Given the description of an element on the screen output the (x, y) to click on. 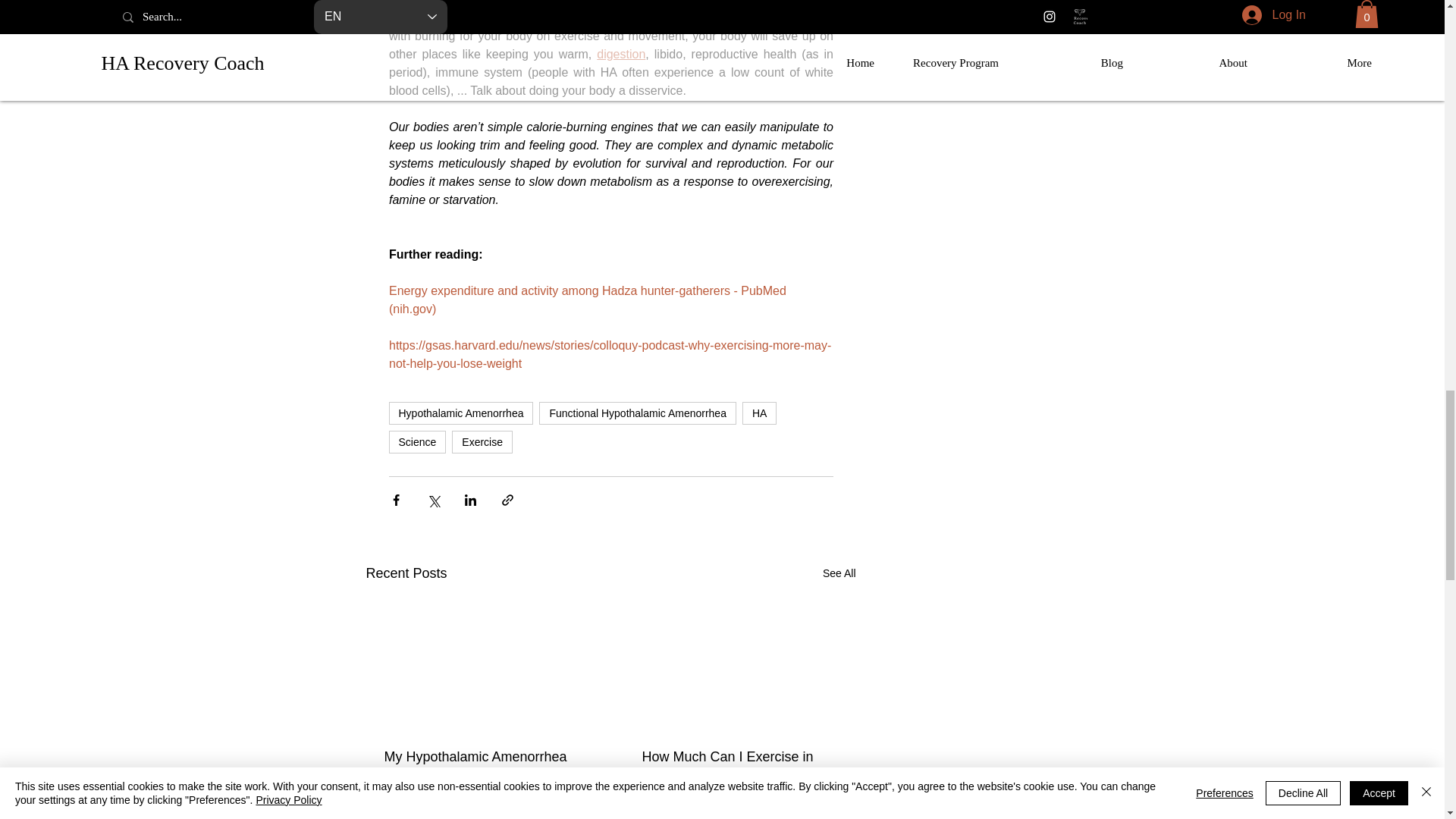
How Much Can I Exercise in Hypothalamic Amenorrhea Recovery? (739, 765)
See All (839, 573)
Exercise (481, 441)
Science (416, 441)
HA (759, 413)
Functional Hypothalamic Amenorrhea (636, 413)
digestion (620, 53)
My Hypothalamic Amenorrhea Recovery Story (481, 765)
Hypothalamic Amenorrhea (460, 413)
